Given the description of an element on the screen output the (x, y) to click on. 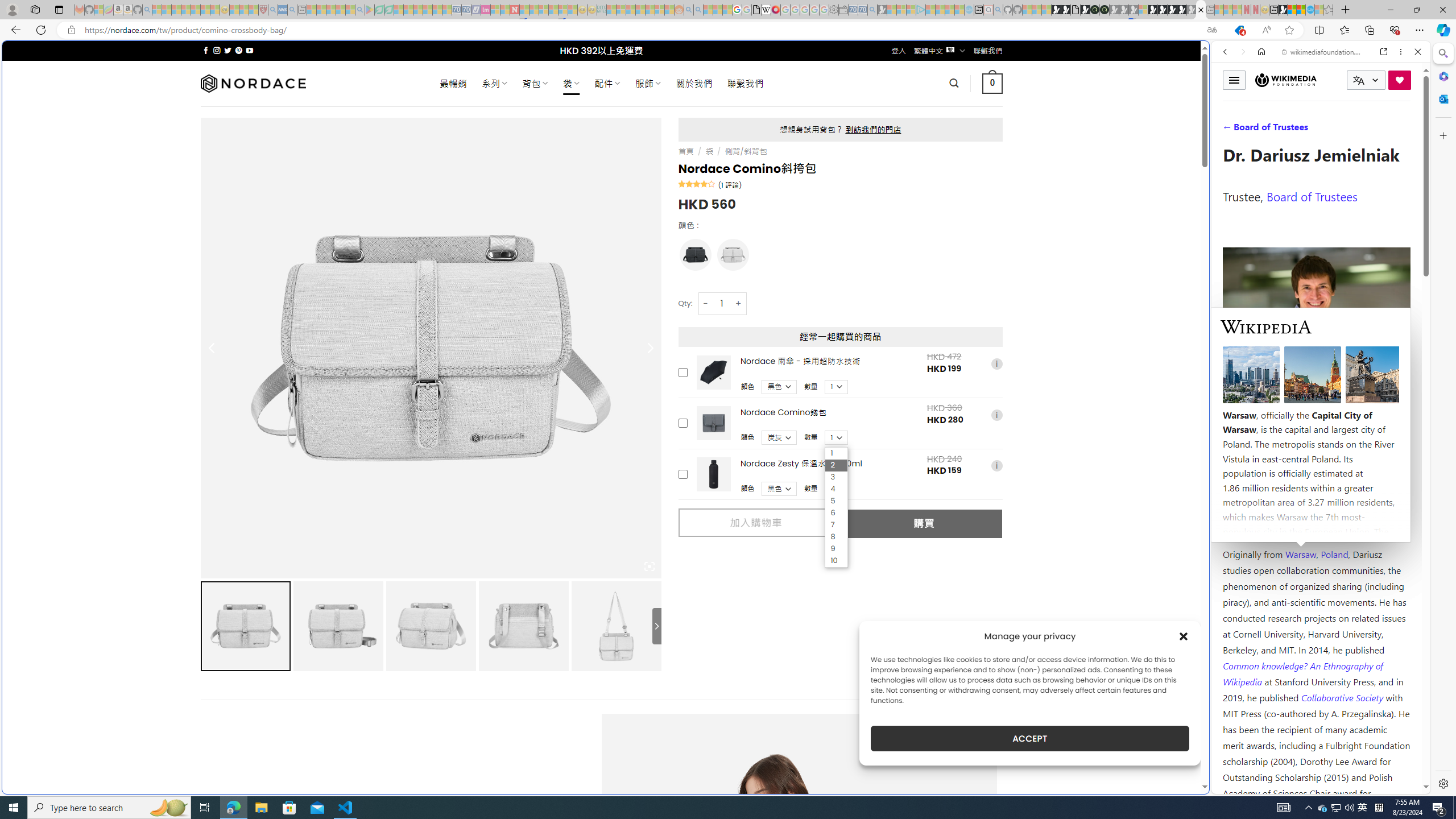
Follow on YouTube (249, 50)
7 (836, 525)
6 (836, 512)
